Given the description of an element on the screen output the (x, y) to click on. 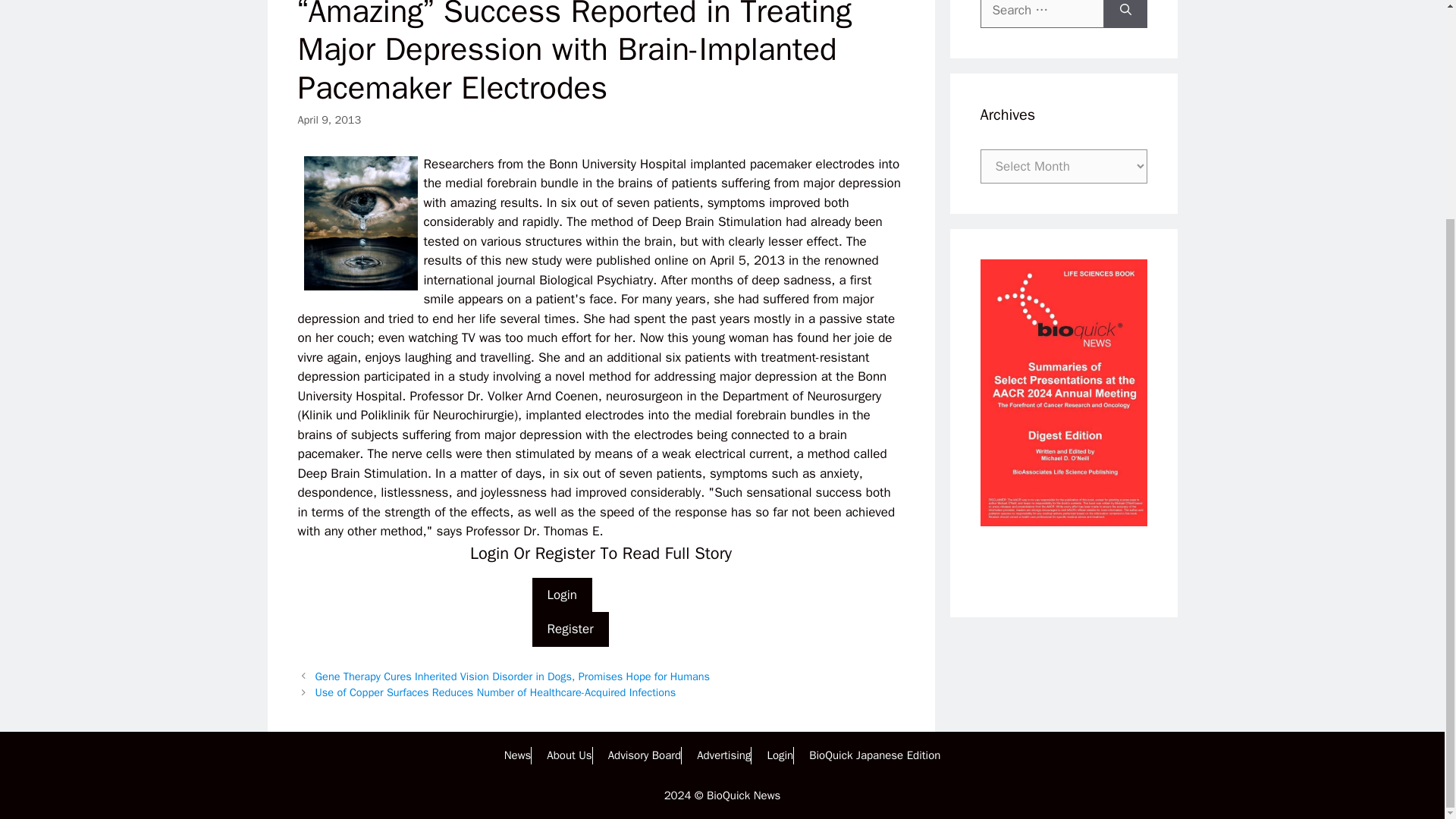
Advertising (724, 755)
Login (780, 755)
Advisory Board (644, 755)
Register (570, 629)
Login (562, 595)
News (517, 755)
BioQuick Japanese Edition (874, 755)
Search for: (1041, 14)
About Us (569, 755)
